Given the description of an element on the screen output the (x, y) to click on. 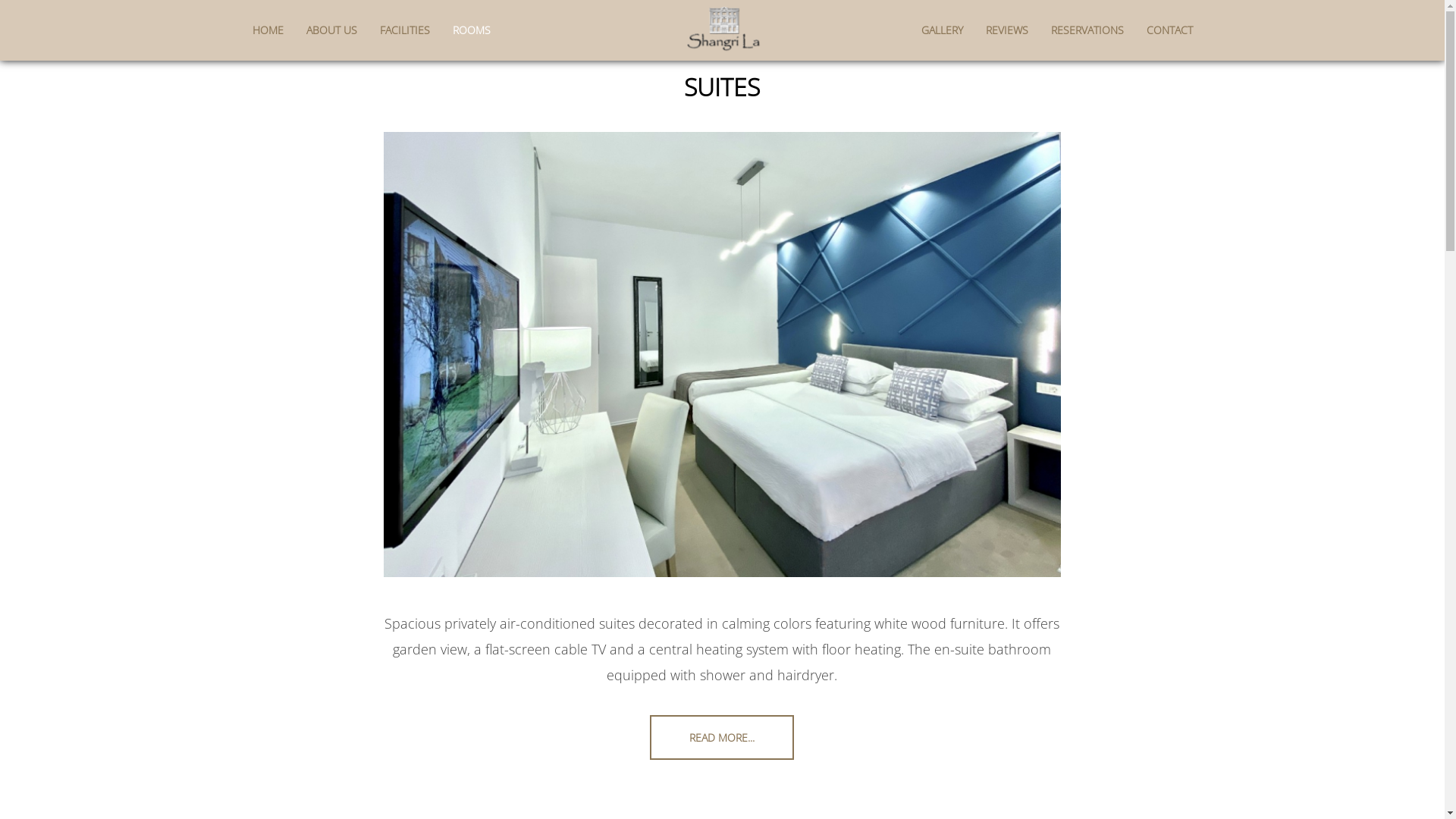
ROOMS Element type: text (465, 30)
ABOUT US Element type: text (330, 30)
FACILITIES Element type: text (404, 30)
REVIEWS Element type: text (1005, 30)
Shangri La Element type: text (721, 28)
GALLERY Element type: text (946, 30)
HOME Element type: text (272, 30)
CONTACT Element type: text (1163, 30)
SUITES Element type: text (721, 86)
READ MORE... Element type: text (721, 737)
RESERVATIONS Element type: text (1086, 30)
Suite Element type: hover (721, 353)
